Given the description of an element on the screen output the (x, y) to click on. 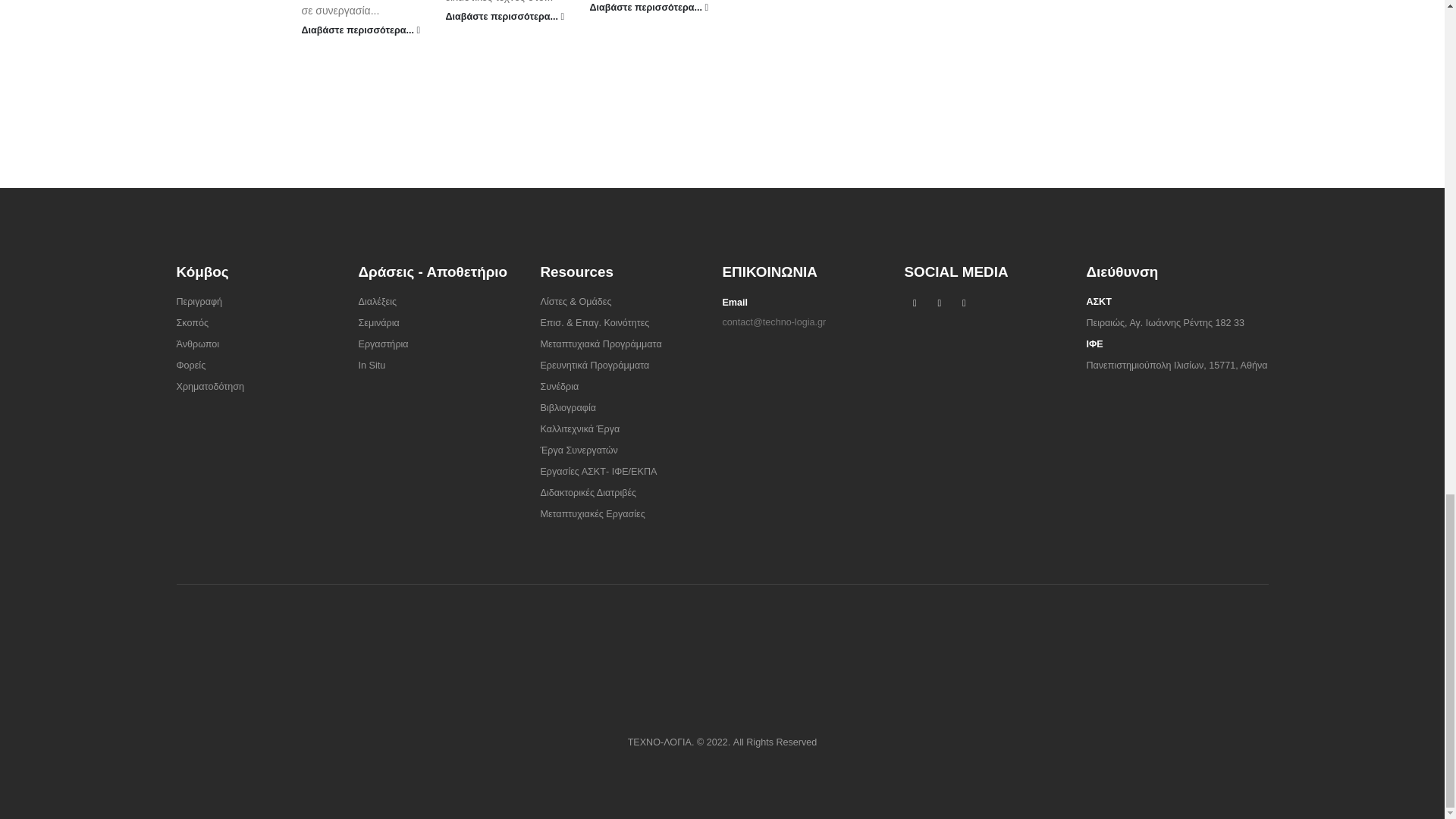
Youtube (939, 302)
Facebook (914, 302)
